Given the description of an element on the screen output the (x, y) to click on. 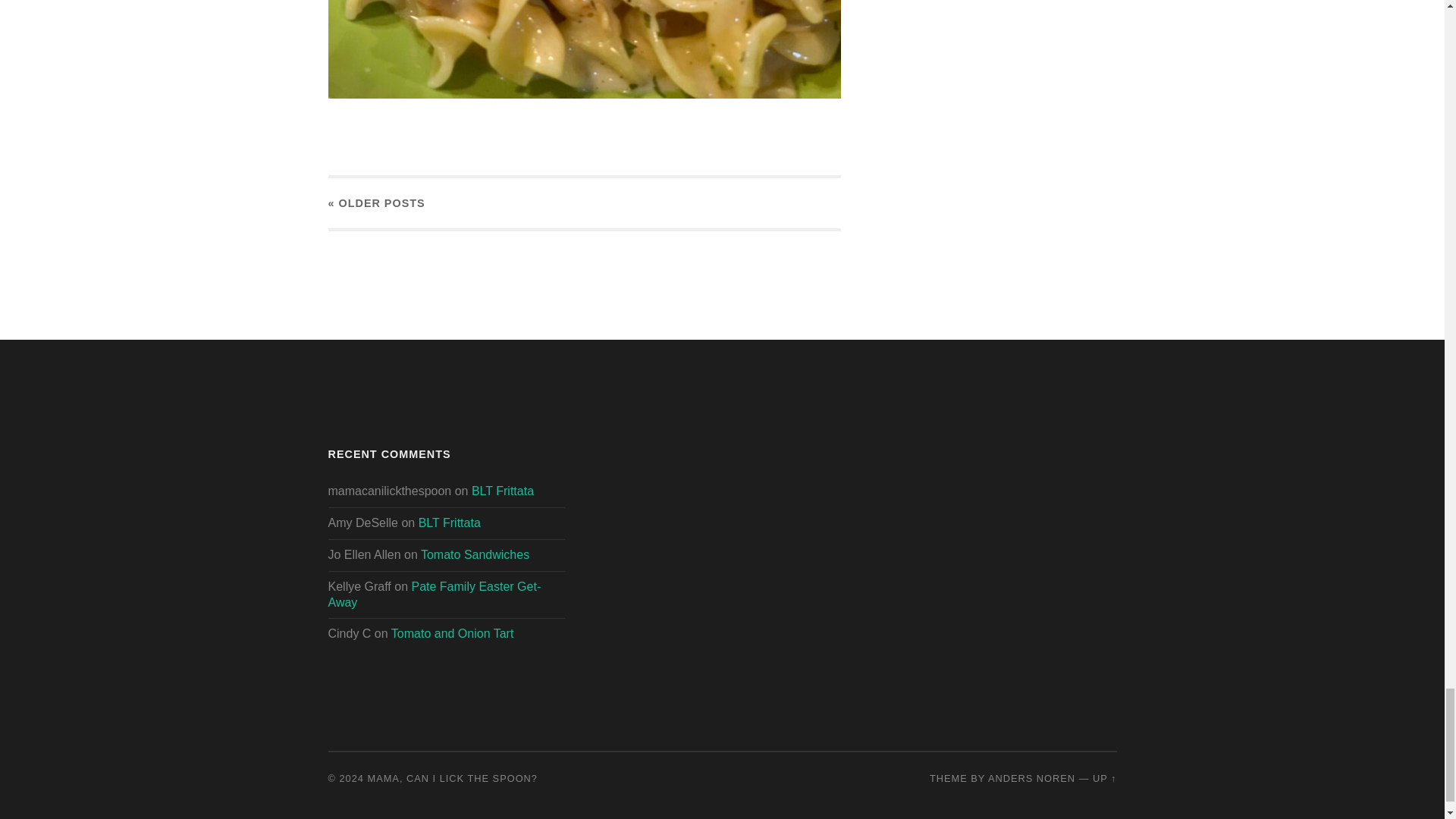
MAMA, CAN I LICK THE SPOON? (452, 778)
Pate Family Easter Get-Away (433, 594)
BLT Frittata (502, 490)
To the top (1104, 778)
Tomato Sandwiches (474, 554)
BLT Frittata (449, 522)
ANDERS NOREN (1031, 778)
Tomato and Onion Tart (452, 633)
